Given the description of an element on the screen output the (x, y) to click on. 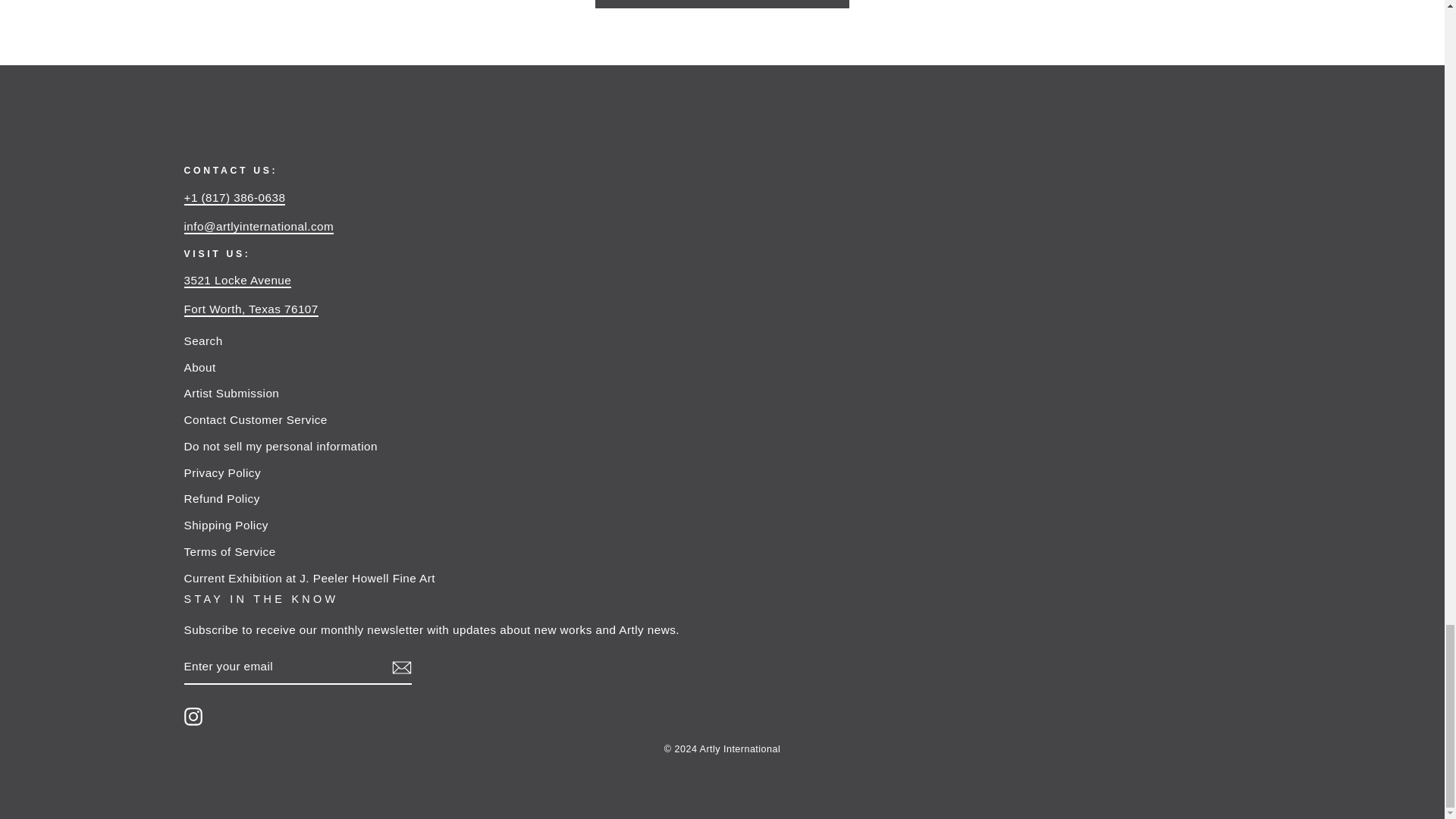
email us (258, 227)
Google Map to Artly International (237, 280)
Artly International on Instagram (192, 716)
instagram (192, 716)
Google Map to Artly International (250, 309)
icon-email (400, 668)
